Given the description of an element on the screen output the (x, y) to click on. 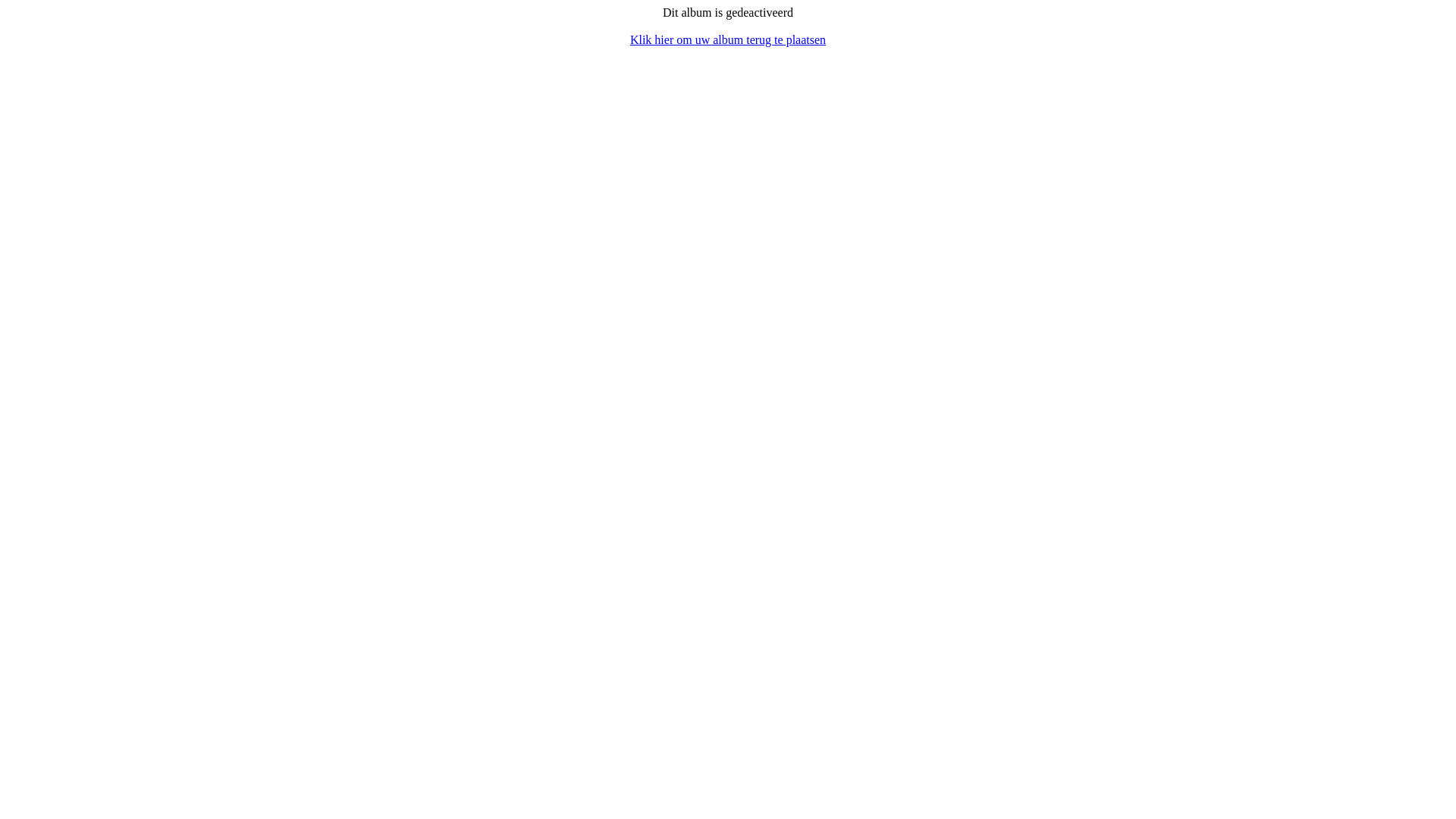
Klik hier om uw album terug te plaatsen Element type: text (727, 39)
